Given the description of an element on the screen output the (x, y) to click on. 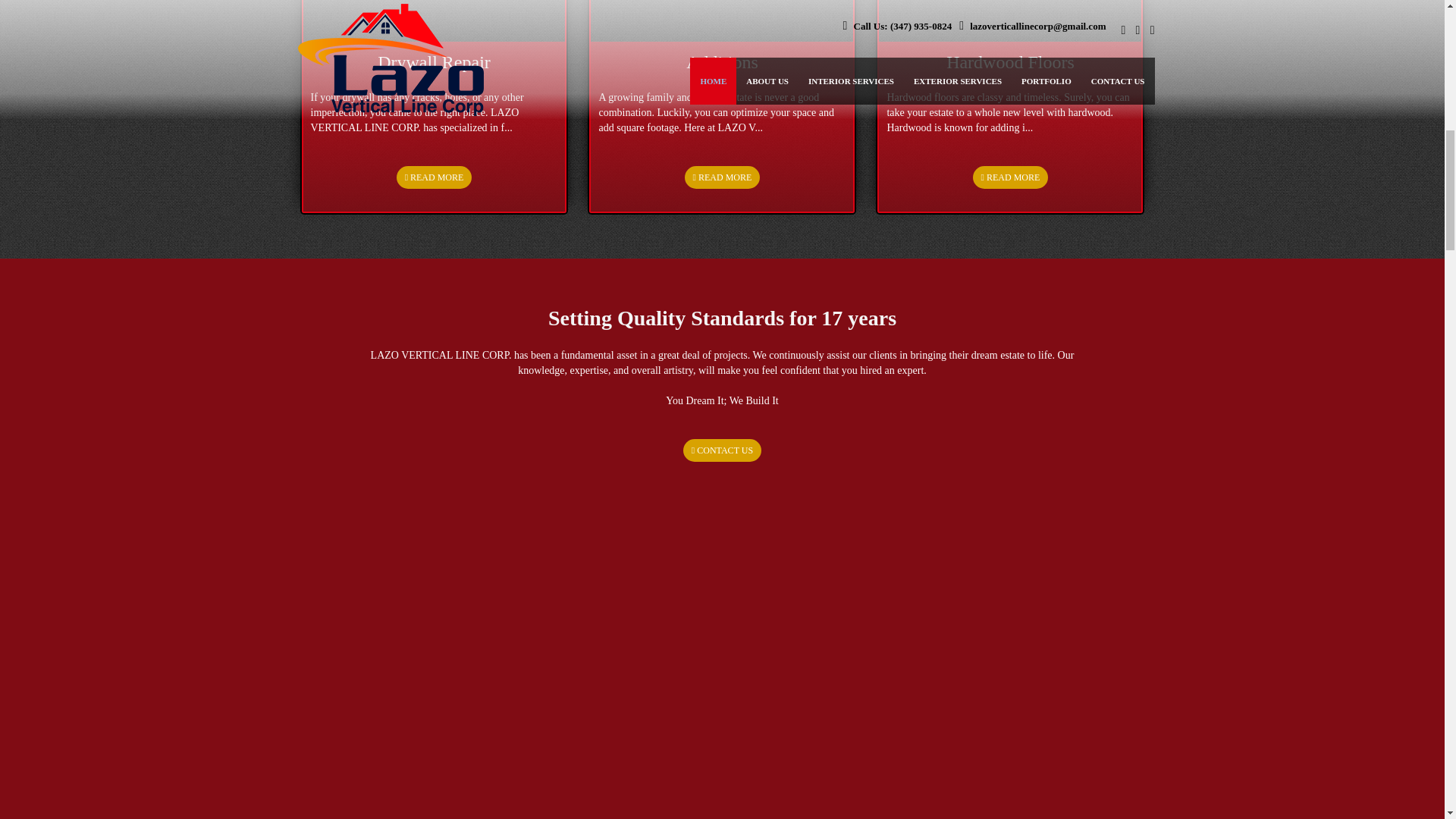
READ MORE (1010, 176)
READ MORE (722, 176)
contact us (1010, 176)
CONTACT US (721, 449)
contact us (433, 176)
contact us (722, 176)
contact us (721, 449)
READ MORE (433, 176)
